Given the description of an element on the screen output the (x, y) to click on. 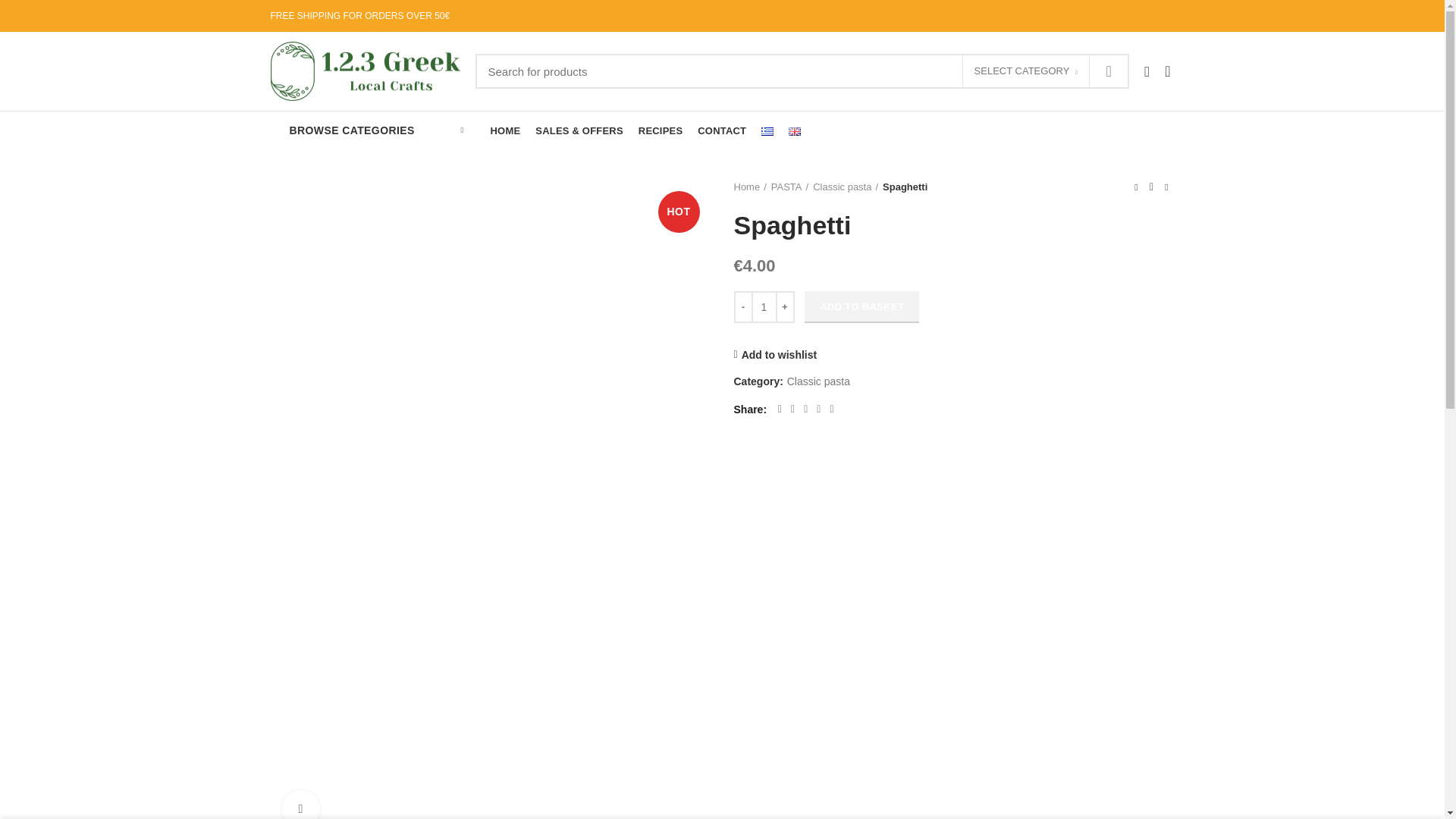
Add to wishlist Element type: text (775, 354)
SALES & OFFERS Element type: text (578, 130)
0 Element type: text (1167, 71)
ADD TO BASKET Element type: text (861, 307)
Telegram Element type: text (831, 409)
Next product Element type: text (1165, 186)
SEARCH Element type: text (1108, 70)
Classic pasta Element type: text (818, 381)
Pinterest Element type: text (805, 409)
linkedin Element type: text (818, 409)
Previous product Element type: text (1135, 186)
Twitter Element type: text (792, 409)
PASTA Element type: text (789, 187)
My account Element type: hover (1146, 71)
RECIPES Element type: text (660, 130)
SELECT CATEGORY Element type: text (1026, 71)
HOME Element type: text (504, 130)
CONTACT Element type: text (721, 130)
Home Element type: text (750, 187)
Facebook Element type: text (779, 409)
Log in Element type: text (1024, 297)
Classic pasta Element type: text (845, 187)
Qty Element type: hover (763, 307)
